Given the description of an element on the screen output the (x, y) to click on. 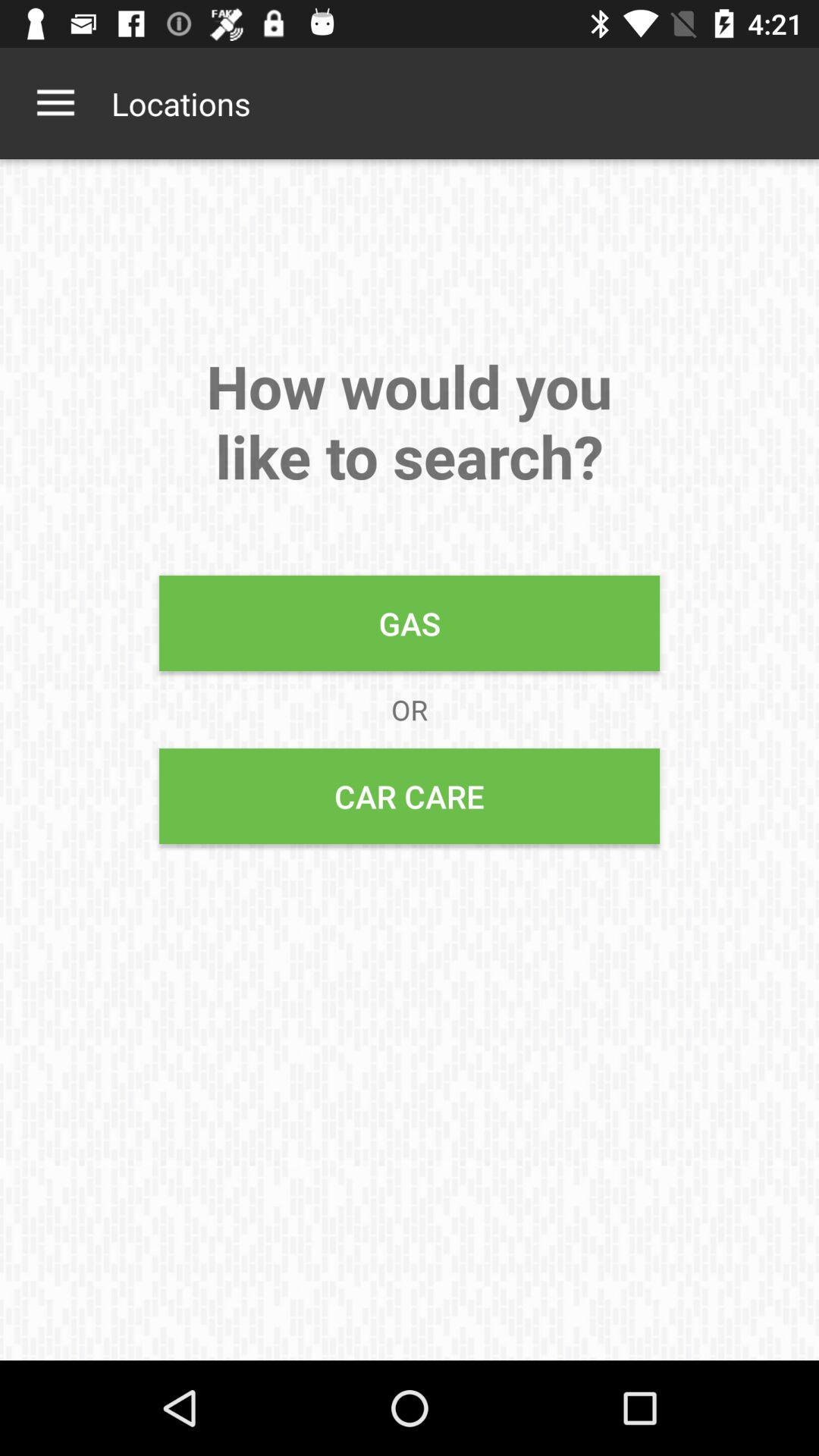
tap the item above the how would you item (180, 103)
